Given the description of an element on the screen output the (x, y) to click on. 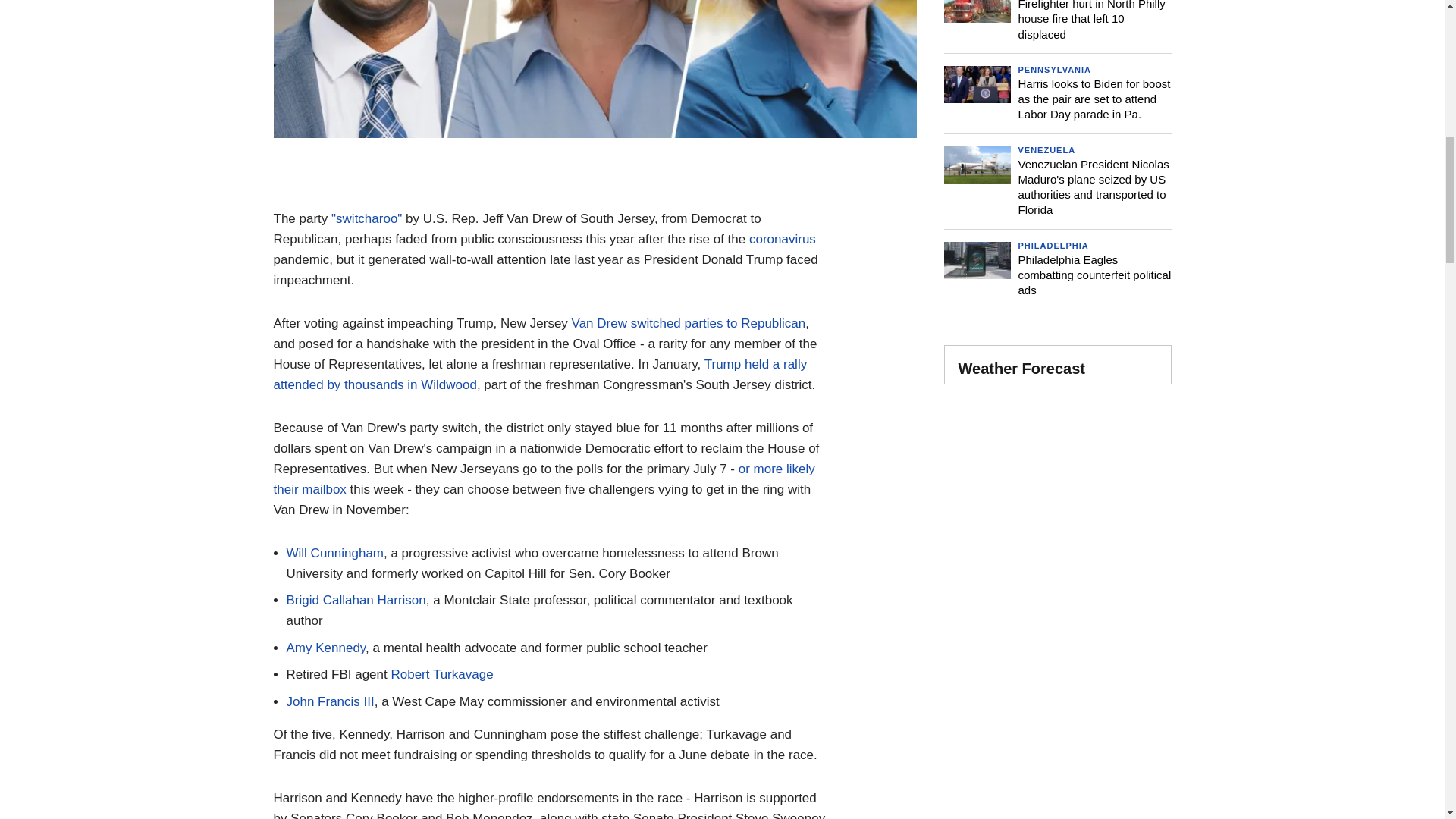
or more likely their mailbox (543, 478)
Amy Kennedy (326, 647)
Van Drew switched parties to Republican (689, 323)
coronavirus (782, 238)
Will Cunningham (335, 553)
Brigid Callahan Harrison (356, 599)
Trump held a rally attended by thousands in Wildwood (539, 374)
"switcharoo" (366, 218)
Robert Turkavage (441, 674)
John Francis III (330, 701)
